Given the description of an element on the screen output the (x, y) to click on. 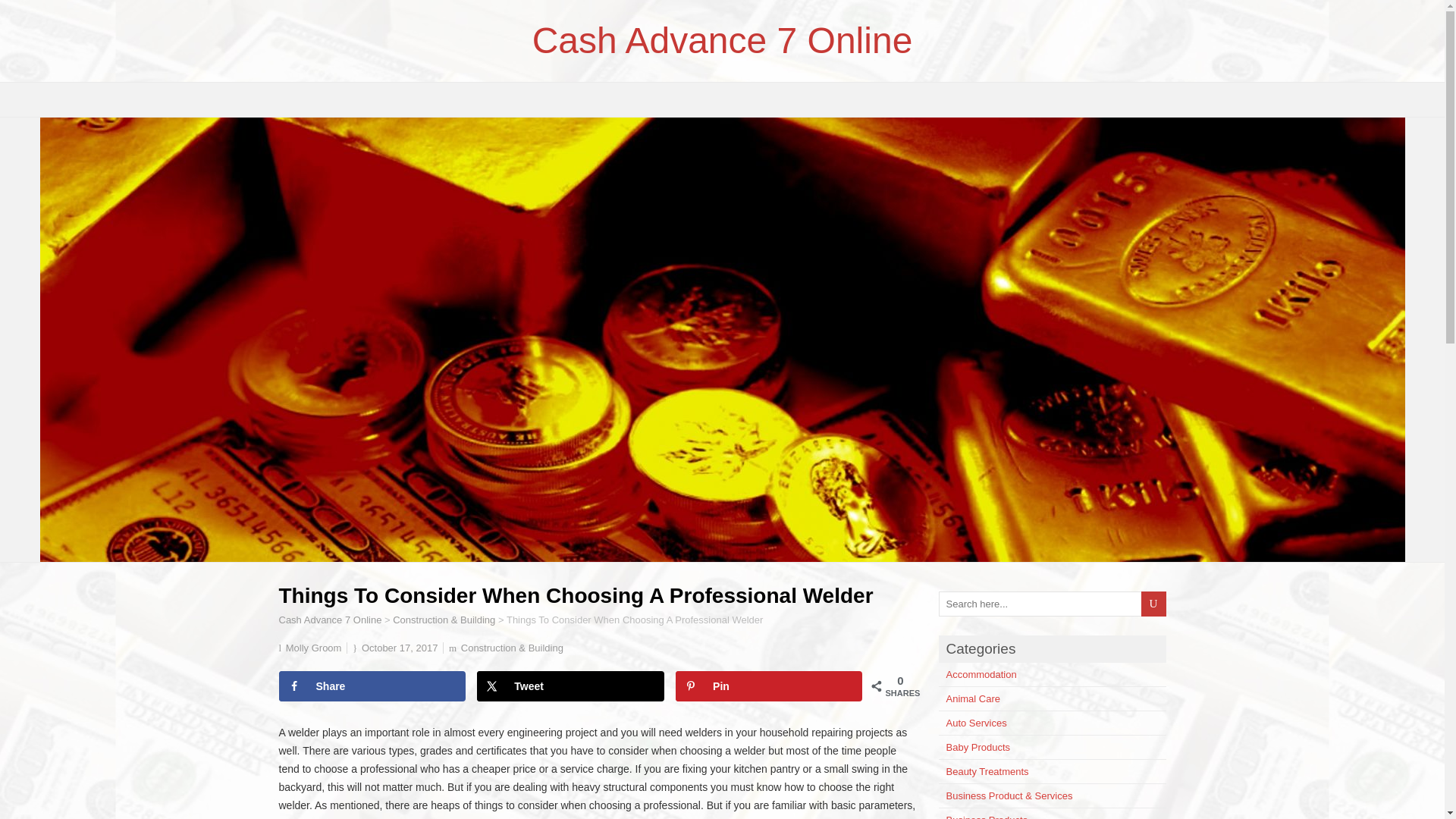
U (1153, 603)
Business Products (986, 816)
Animal Care (973, 698)
Beauty Treatments (987, 771)
U (1153, 603)
Tweet (570, 685)
Share on X (570, 685)
U (1153, 603)
Cash Advance 7 Online (722, 40)
Cash Advance 7 Online (331, 619)
Auto Services (976, 722)
Go to Cash Advance 7 Online . (331, 619)
Accommodation (981, 674)
Baby Products (978, 747)
Molly Groom (313, 647)
